Given the description of an element on the screen output the (x, y) to click on. 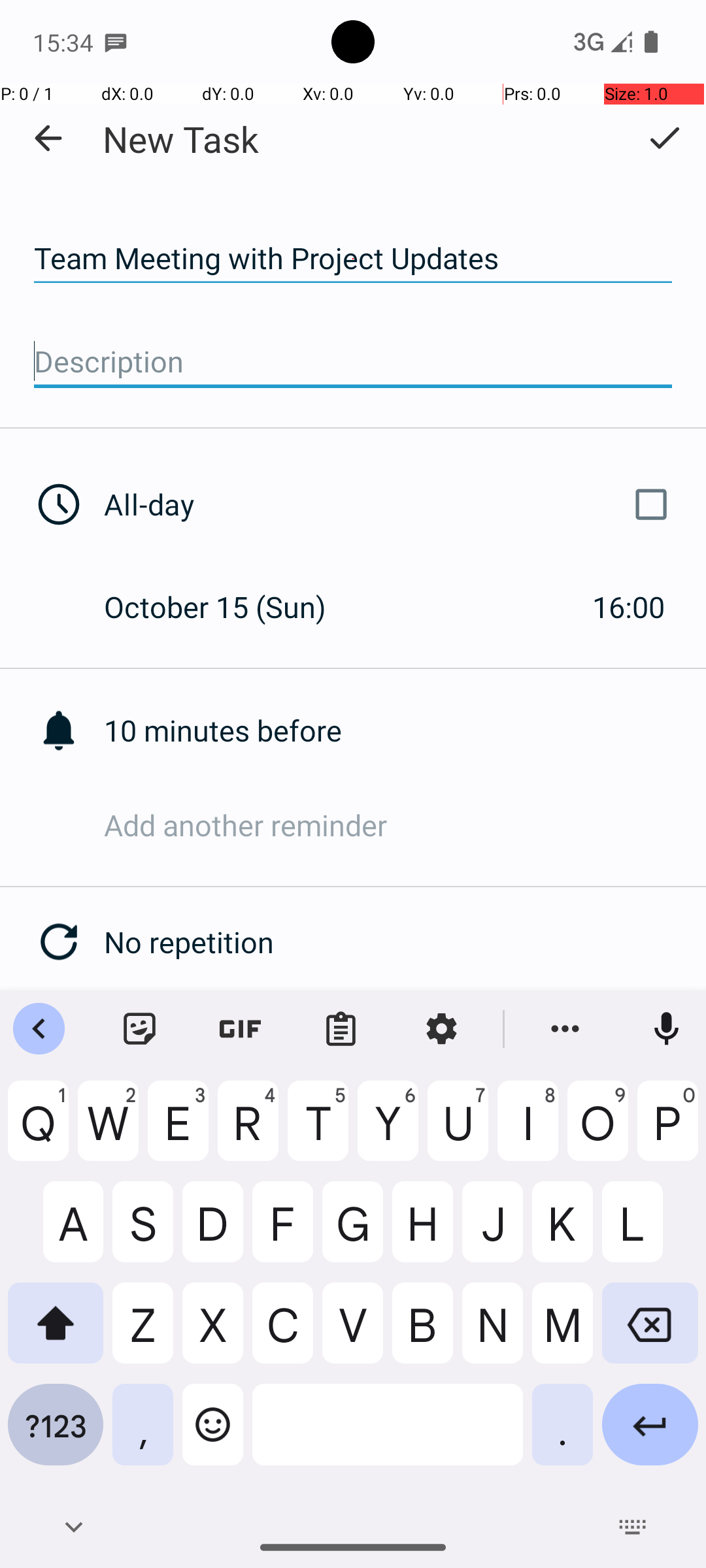
New Task Element type: android.widget.TextView (180, 138)
Team Meeting with Project Updates Element type: android.widget.EditText (352, 258)
16:00 Element type: android.widget.TextView (628, 606)
10 minutes before Element type: android.widget.TextView (404, 729)
Add another reminder Element type: android.widget.TextView (404, 824)
No repetition Element type: android.widget.TextView (404, 941)
